Given the description of an element on the screen output the (x, y) to click on. 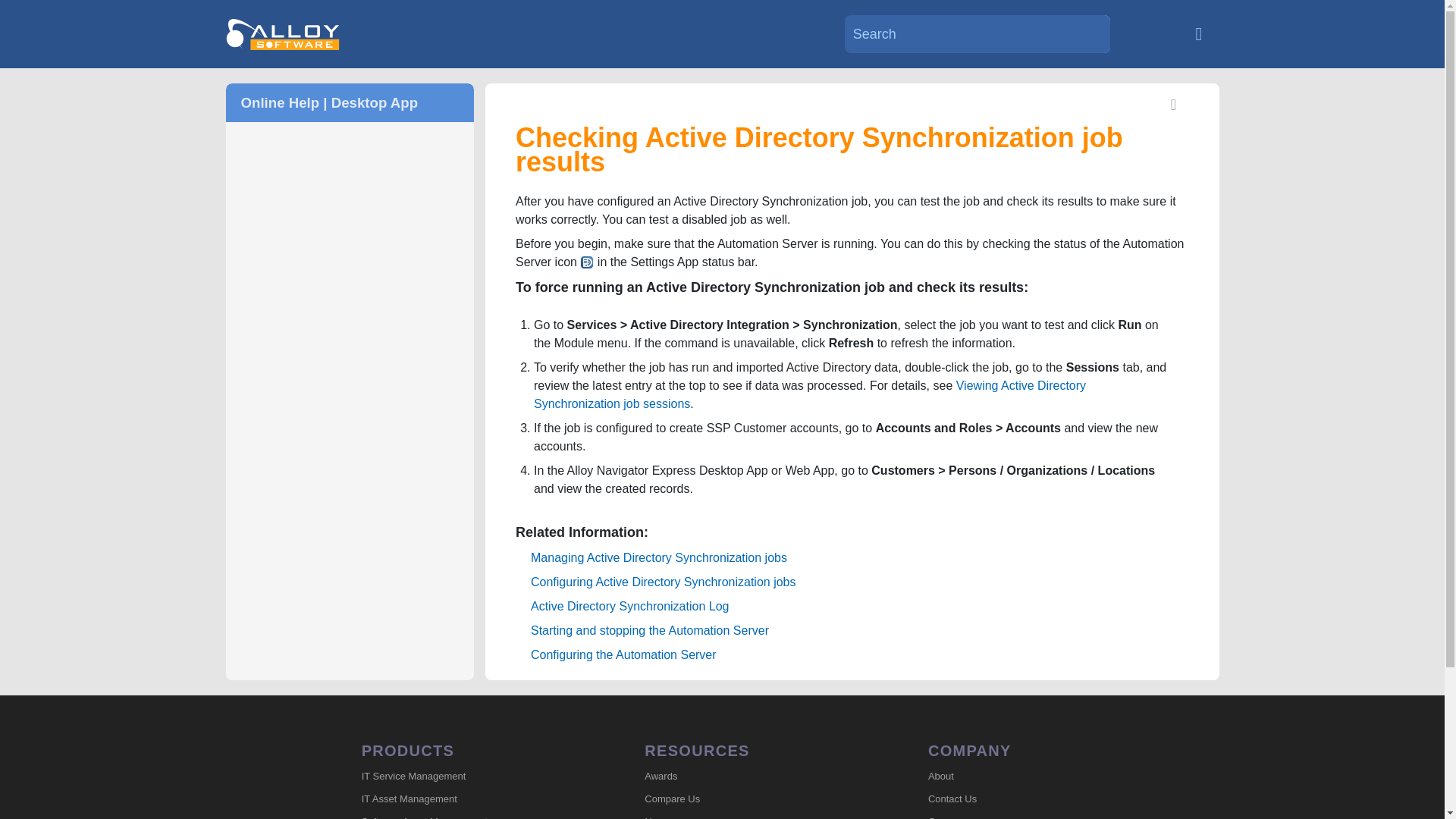
Starting and stopping the Automation Server (649, 630)
News (751, 814)
Configuring Active Directory Synchronization jobs (663, 581)
Active Directory Synchronization Log (630, 605)
Print (1173, 105)
Managing Active Directory Synchronization jobs (659, 557)
About (1034, 775)
Awards (751, 775)
Viewing Active Directory Synchronization job sessions (810, 394)
Back to Home (1198, 33)
